Given the description of an element on the screen output the (x, y) to click on. 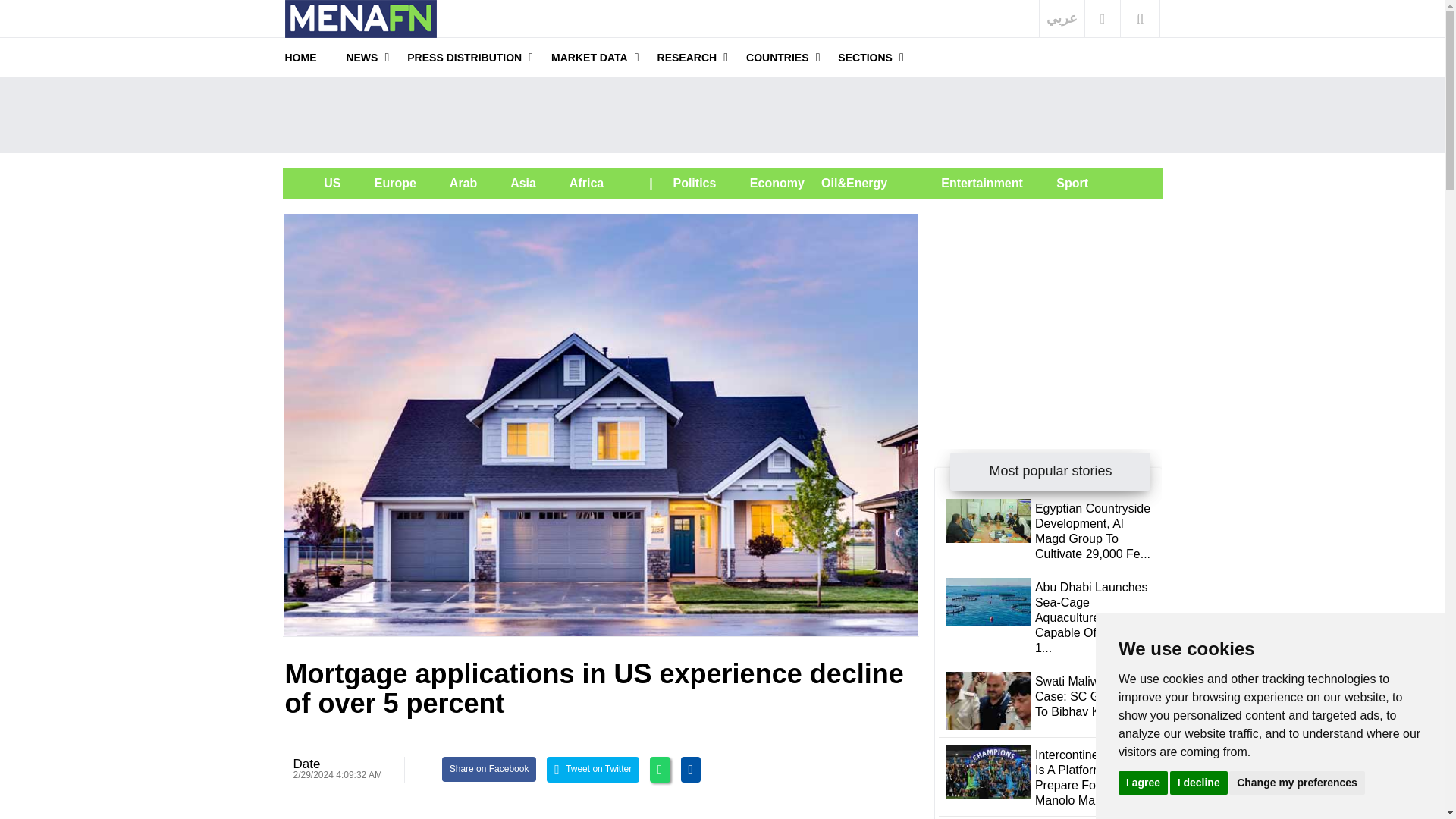
Change my preferences (1296, 781)
PRESS DISTRIBUTION (464, 56)
I decline (1198, 781)
MARKET DATA (589, 56)
I agree (1142, 781)
Posts by NewEdge (306, 763)
Advertisement (721, 115)
Advertisement (1047, 308)
